Given the description of an element on the screen output the (x, y) to click on. 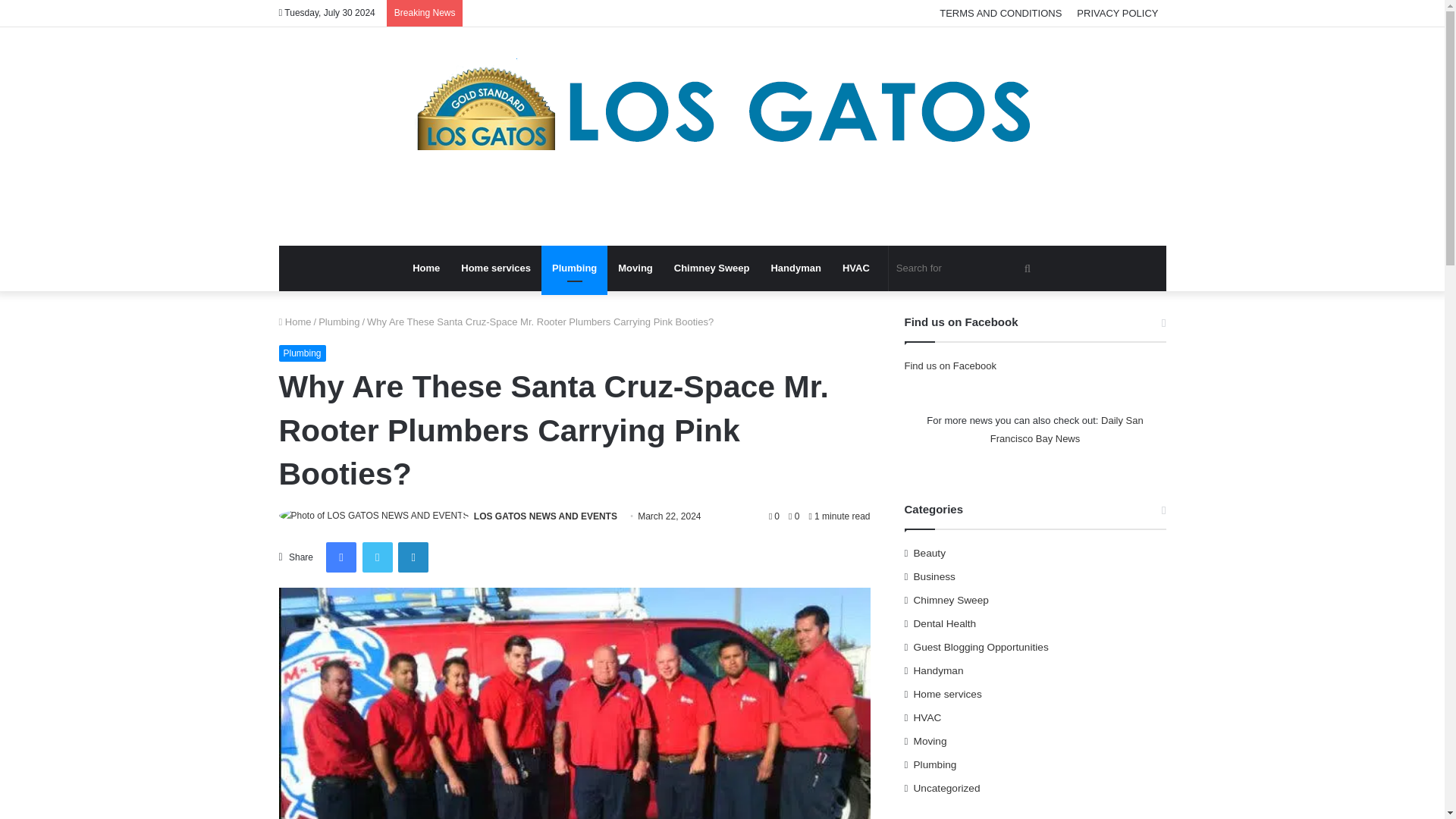
Twitter (377, 557)
Moving (635, 268)
LinkedIn (412, 557)
Los Gatos News And Events (722, 136)
Search for (965, 268)
Home (295, 321)
Home services (495, 268)
LinkedIn (412, 557)
Twitter (377, 557)
Plumbing (338, 321)
Plumbing (574, 268)
Facebook (341, 557)
HVAC (855, 268)
Plumbing (302, 352)
Chimney Sweep (711, 268)
